Given the description of an element on the screen output the (x, y) to click on. 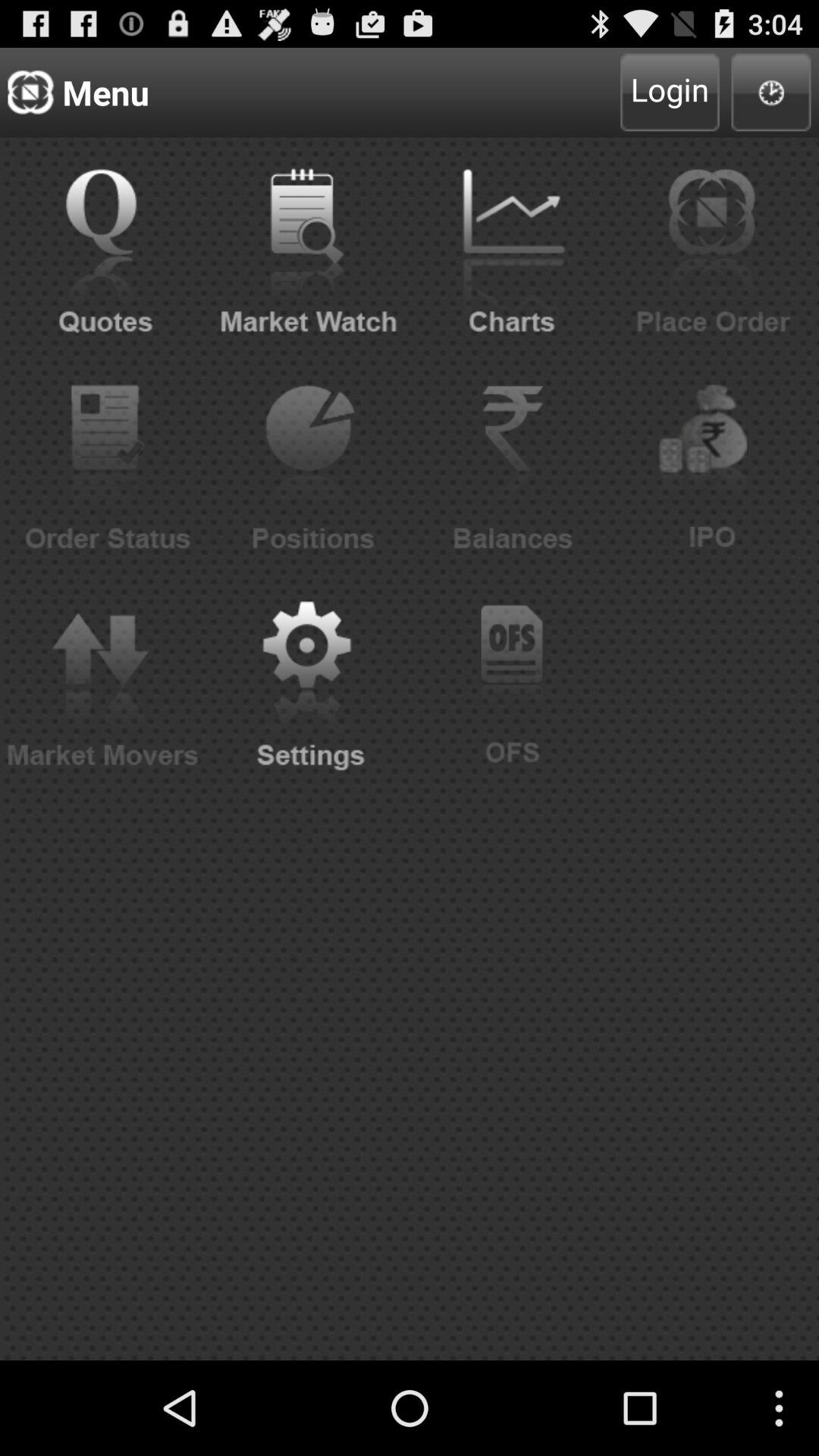
swipe to login (669, 92)
